Given the description of an element on the screen output the (x, y) to click on. 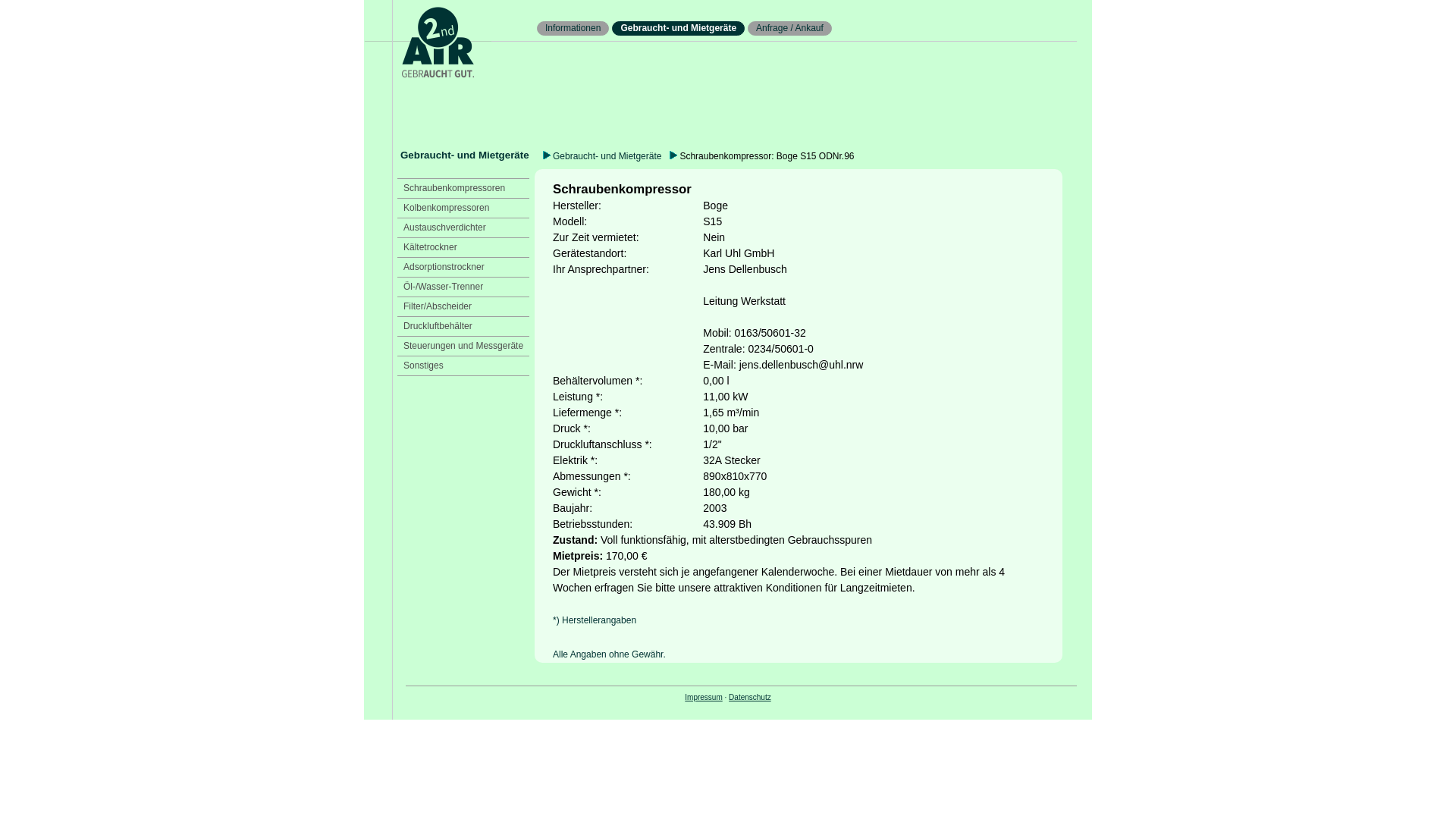
Informationen Element type: text (572, 27)
Datenschutz Element type: text (749, 697)
Adsorptionstrockner Element type: text (443, 266)
Anfrage / Ankauf Element type: text (789, 27)
Impressum Element type: text (702, 697)
Austauschverdichter Element type: text (444, 227)
Kolbenkompressoren Element type: text (446, 207)
Schraubenkompressoren Element type: text (454, 187)
Filter/Abscheider Element type: text (437, 306)
Sonstiges Element type: text (423, 365)
